Given the description of an element on the screen output the (x, y) to click on. 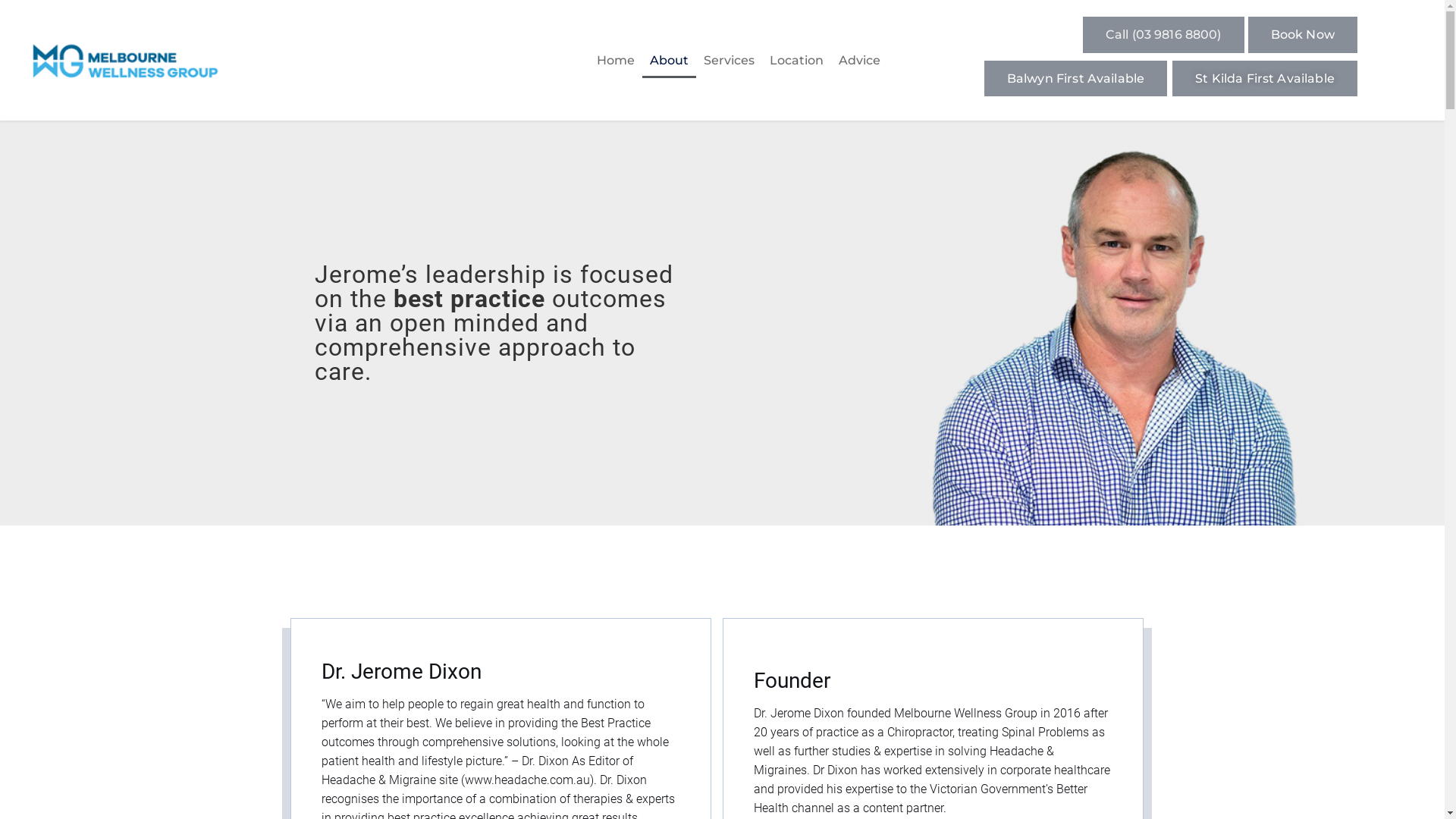
St Kilda First Available Element type: text (1264, 78)
Call (03 9816 8800) Element type: text (1163, 34)
Balwyn First Available Element type: text (1075, 78)
Services Element type: text (729, 60)
Home Element type: text (615, 60)
Advice Element type: text (859, 60)
About Element type: text (669, 60)
Location Element type: text (796, 60)
Book Now Element type: text (1302, 34)
